Given the description of an element on the screen output the (x, y) to click on. 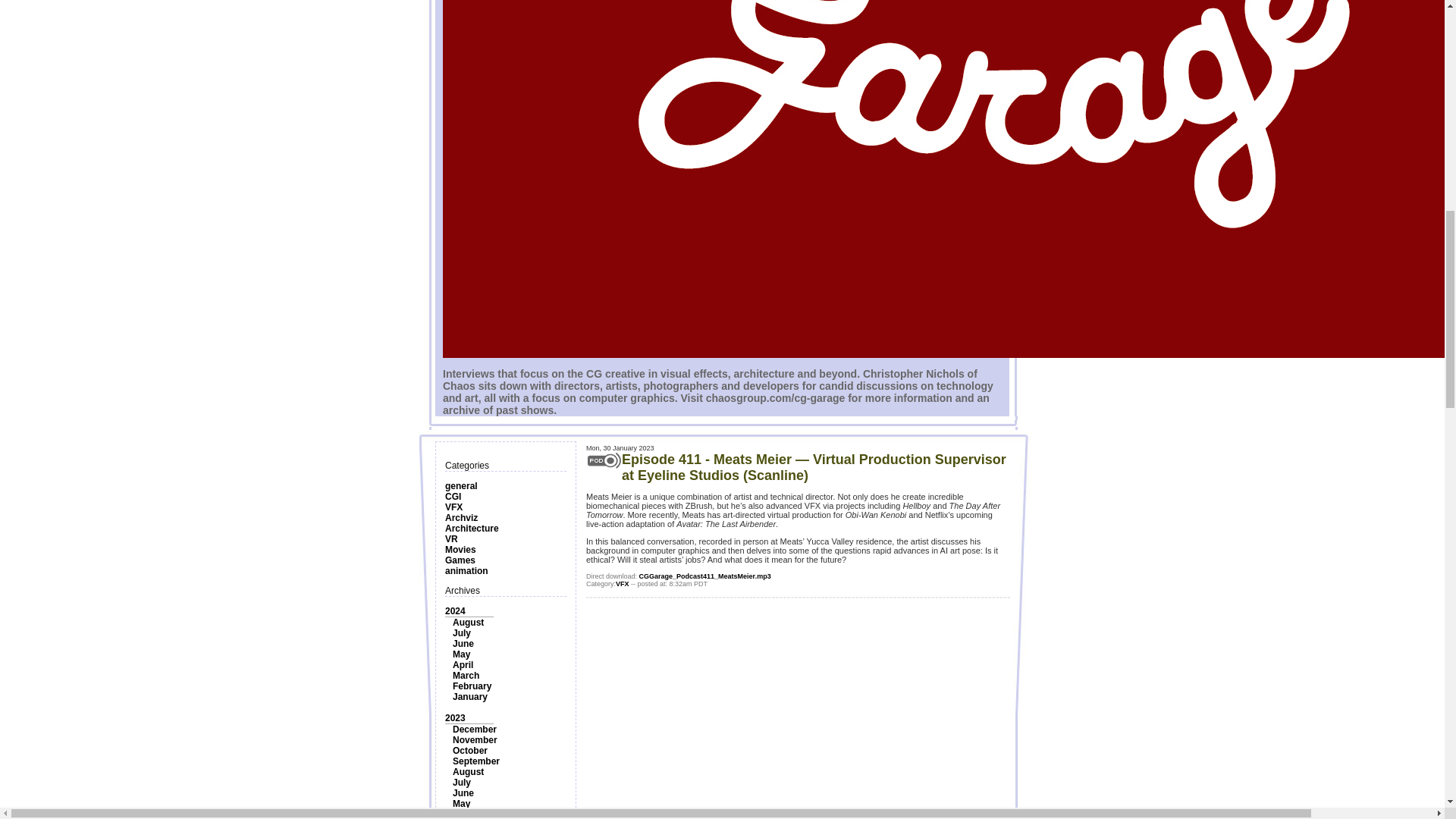
October (469, 750)
2023 (455, 717)
November (474, 739)
Games (460, 560)
May (461, 803)
December (474, 728)
April (462, 665)
April (462, 814)
VFX (454, 507)
July (461, 633)
